Given the description of an element on the screen output the (x, y) to click on. 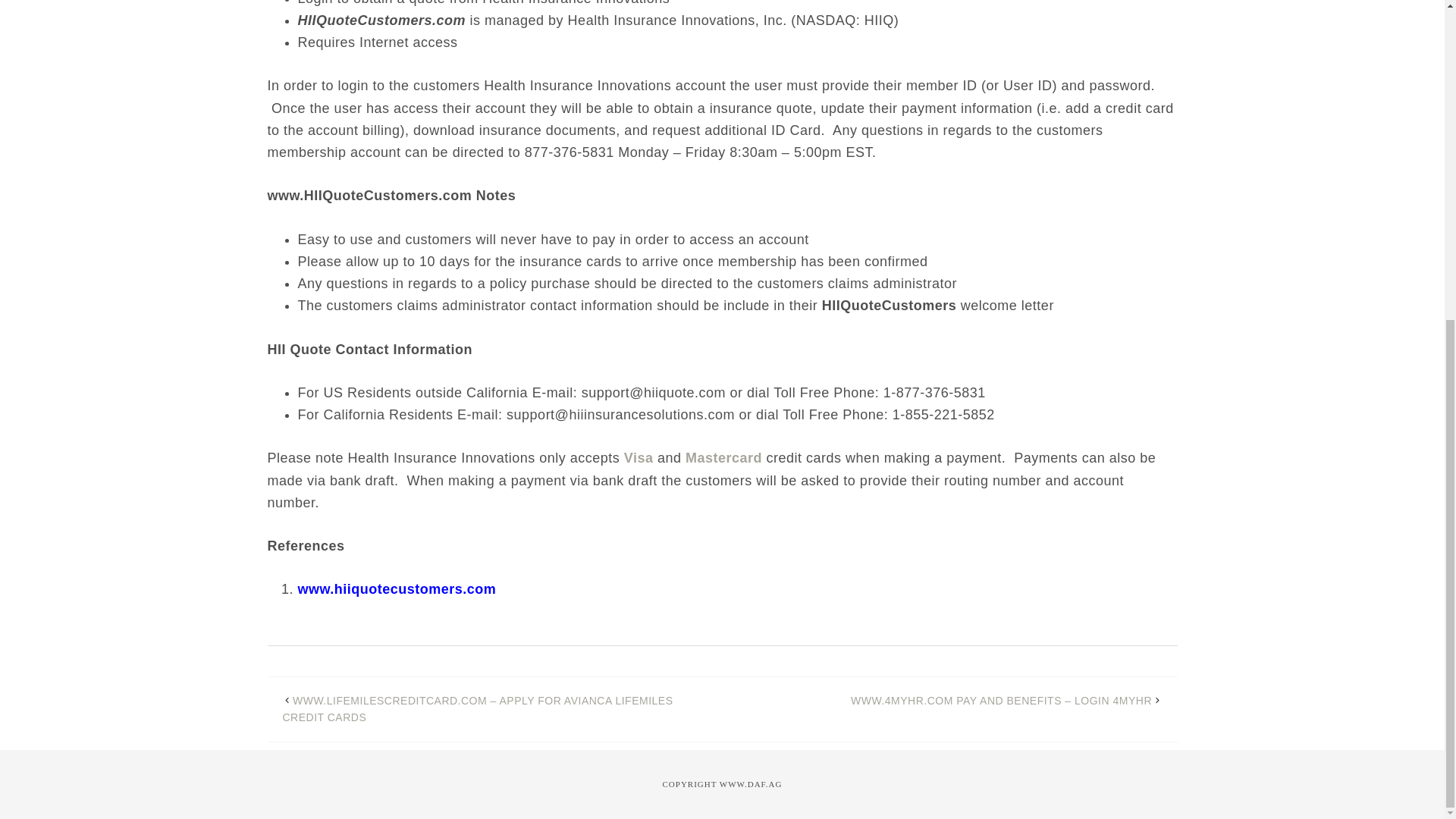
Visa (638, 458)
Mastercard (723, 458)
www.hiiquotecustomers.com (396, 589)
